Given the description of an element on the screen output the (x, y) to click on. 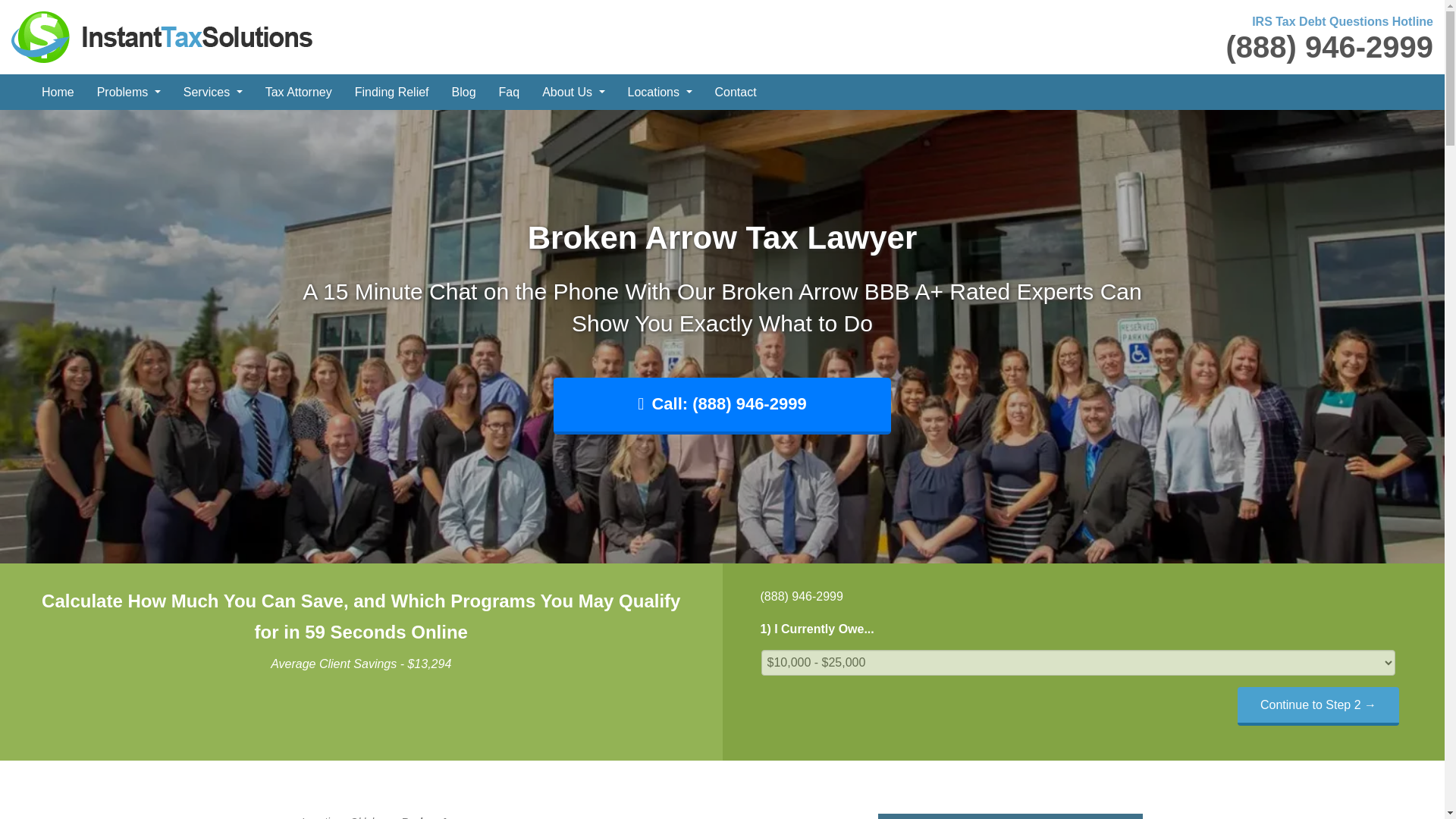
Faq (509, 91)
Tax Attorney (298, 91)
Finding Relief (392, 91)
Problems (128, 91)
Services (212, 91)
Blog (464, 91)
About Us (573, 91)
Locations (659, 91)
Home (57, 91)
Instant Tax Solutions (162, 35)
